Given the description of an element on the screen output the (x, y) to click on. 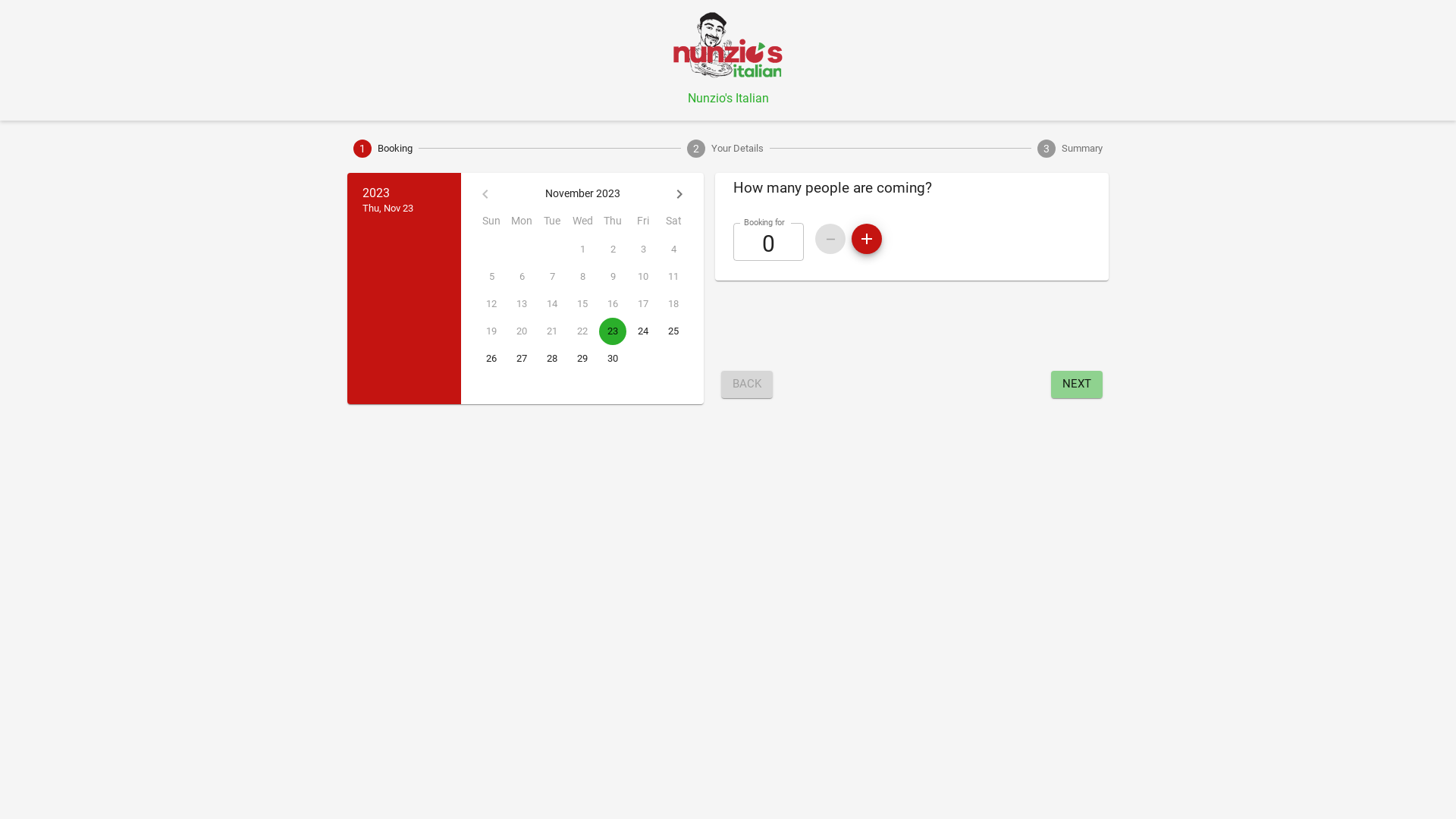
14 Element type: text (551, 303)
26 Element type: text (491, 358)
18 Element type: text (673, 303)
8 Element type: text (582, 276)
16 Element type: text (612, 303)
7 Element type: text (551, 276)
20 Element type: text (521, 331)
29 Element type: text (582, 358)
BACK Element type: text (746, 384)
12 Element type: text (491, 303)
2 Element type: text (612, 249)
11 Element type: text (673, 276)
13 Element type: text (521, 303)
27 Element type: text (521, 358)
21 Element type: text (551, 331)
4 Element type: text (673, 249)
3 Element type: text (642, 249)
28 Element type: text (551, 358)
22 Element type: text (582, 331)
25 Element type: text (673, 331)
6 Element type: text (521, 276)
15 Element type: text (582, 303)
17 Element type: text (642, 303)
19 Element type: text (491, 331)
24 Element type: text (642, 331)
23 Element type: text (612, 331)
9 Element type: text (612, 276)
30 Element type: text (612, 358)
1 Element type: text (582, 249)
10 Element type: text (642, 276)
NEXT Element type: text (1076, 384)
5 Element type: text (491, 276)
